Given the description of an element on the screen output the (x, y) to click on. 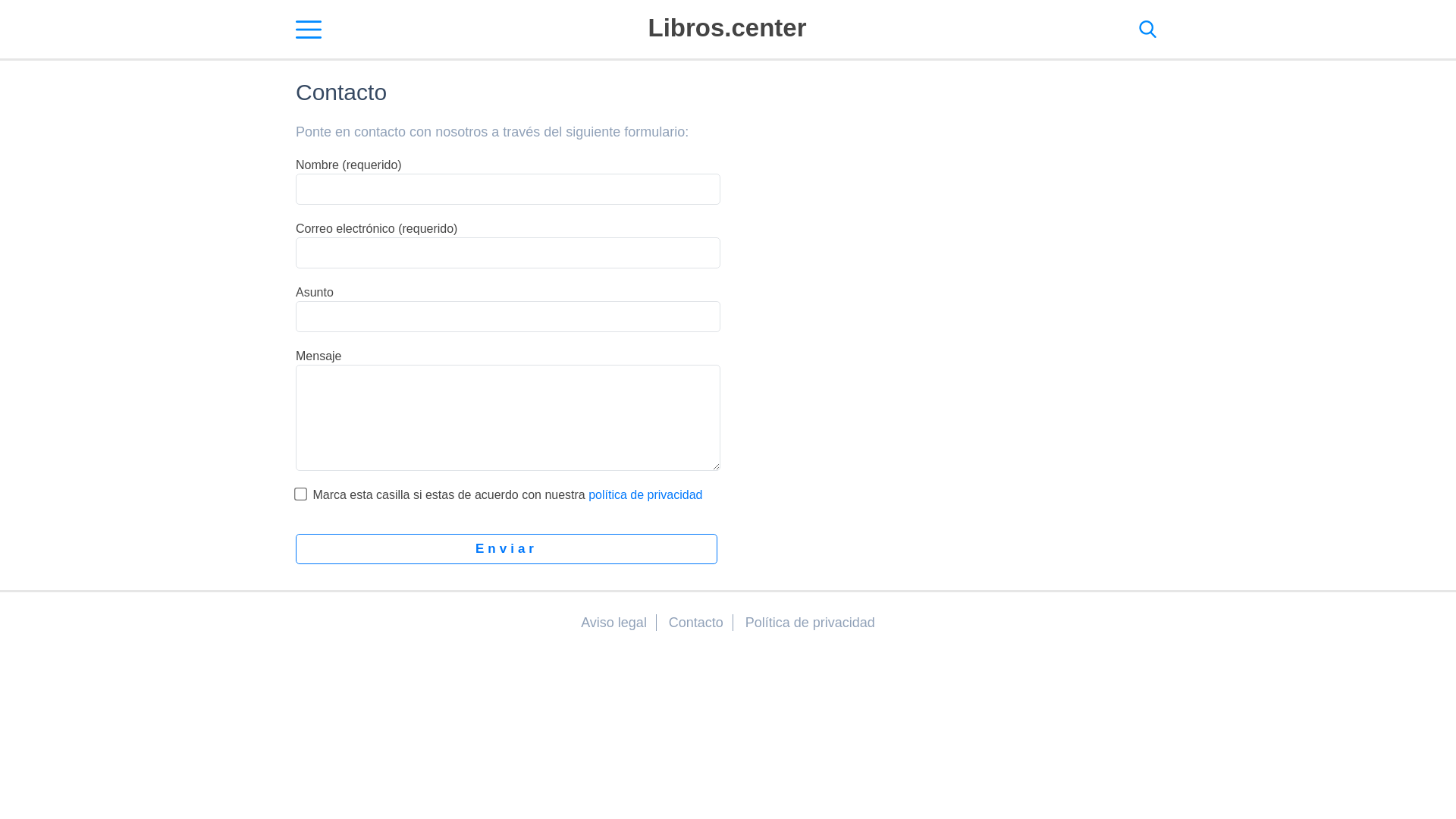
Libros.center Element type: text (726, 27)
Enviar Element type: text (506, 548)
Contacto Element type: text (695, 622)
Aviso legal Element type: text (613, 622)
